Given the description of an element on the screen output the (x, y) to click on. 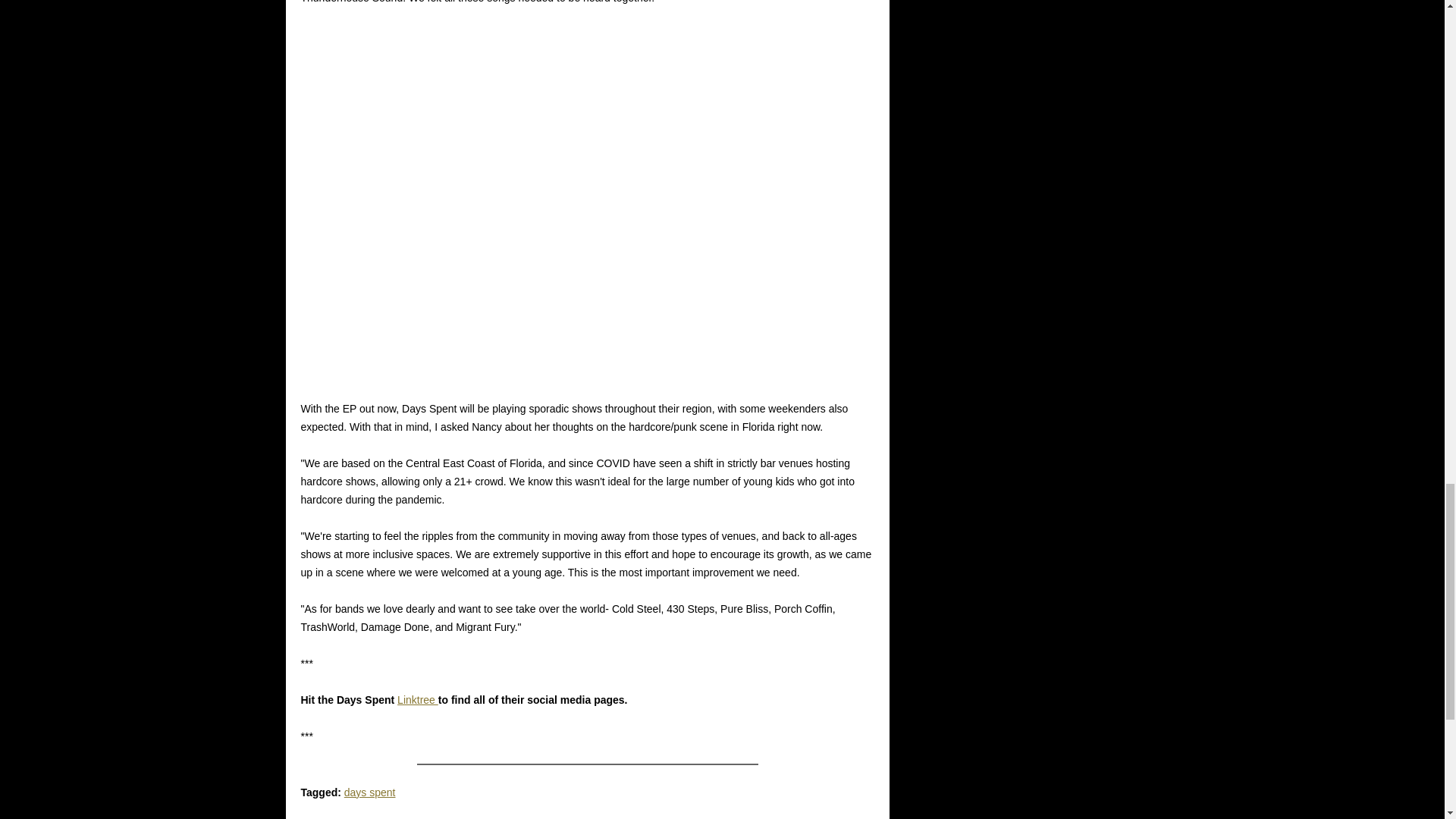
Linktree (417, 699)
days spent (369, 792)
